Given the description of an element on the screen output the (x, y) to click on. 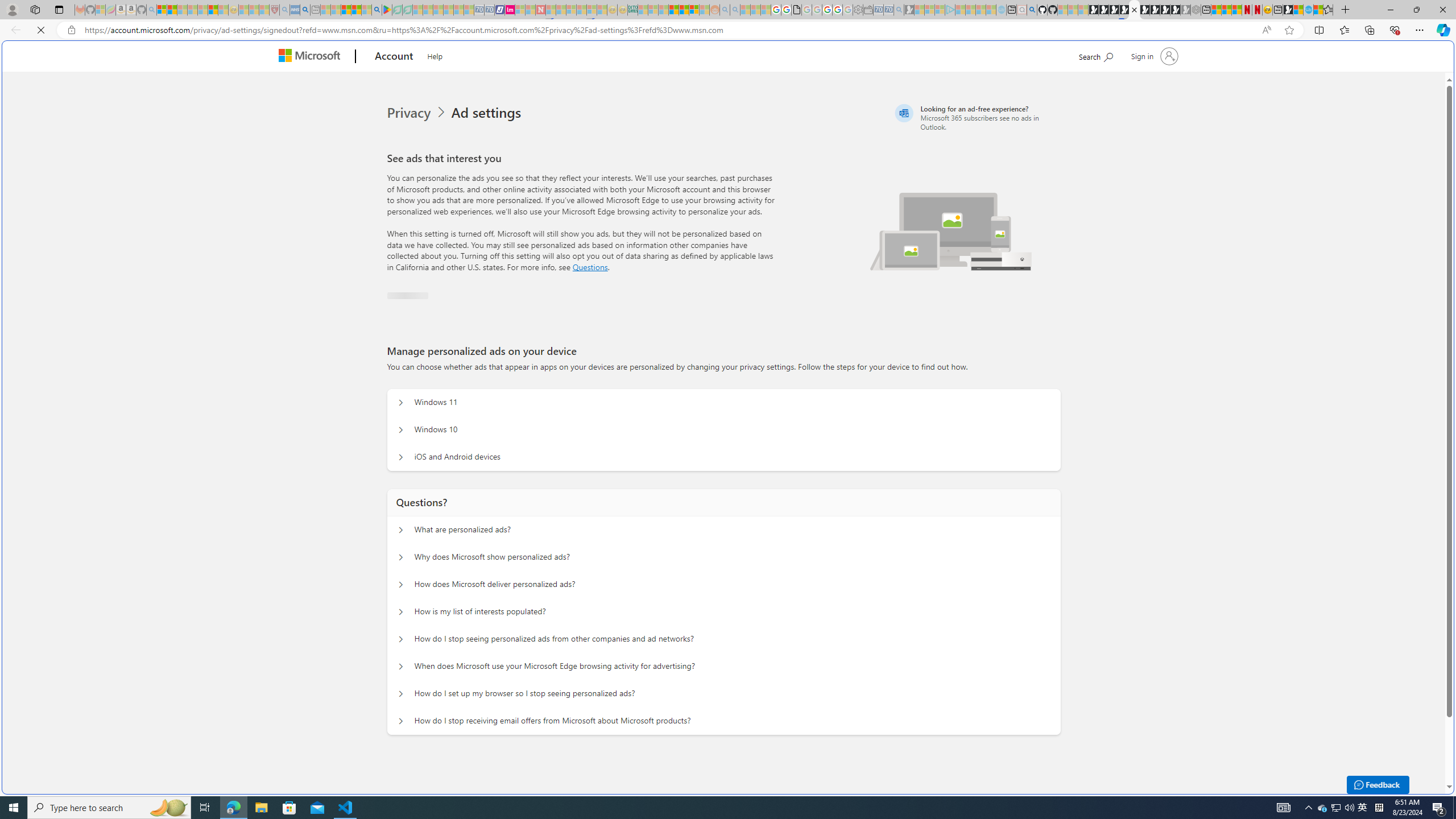
MSNBC - MSN - Sleeping (642, 9)
Kinda Frugal - MSN (684, 9)
Home | Sky Blue Bikes - Sky Blue Bikes (1307, 9)
Account (394, 56)
MSN (1287, 9)
Local - MSN - Sleeping (263, 9)
